Given the description of an element on the screen output the (x, y) to click on. 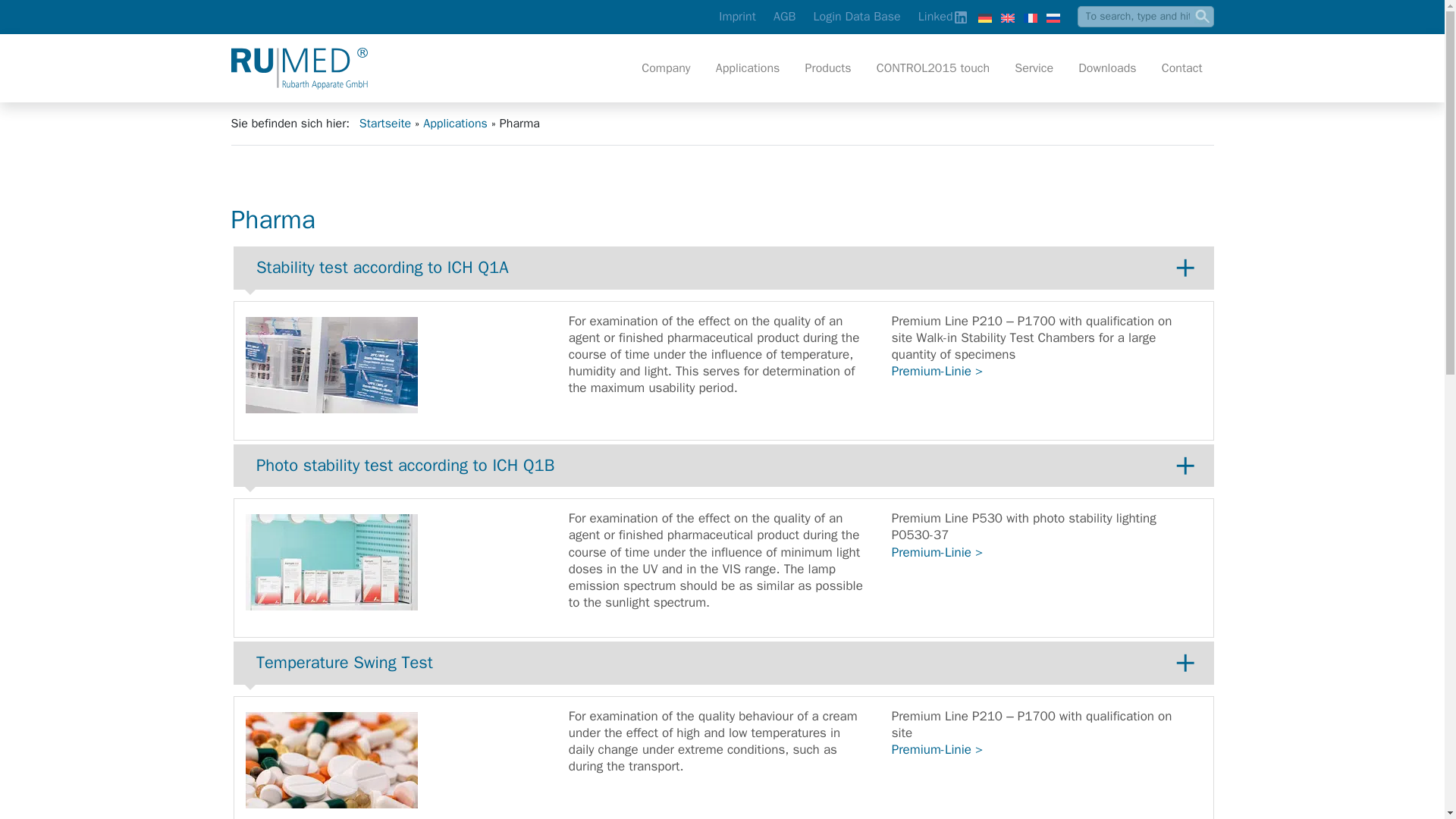
Imprint (736, 16)
Applications (748, 68)
Login Data Base (857, 16)
Products (828, 68)
Linked (935, 16)
Company (665, 68)
AGB (784, 16)
Search (1202, 16)
